Given the description of an element on the screen output the (x, y) to click on. 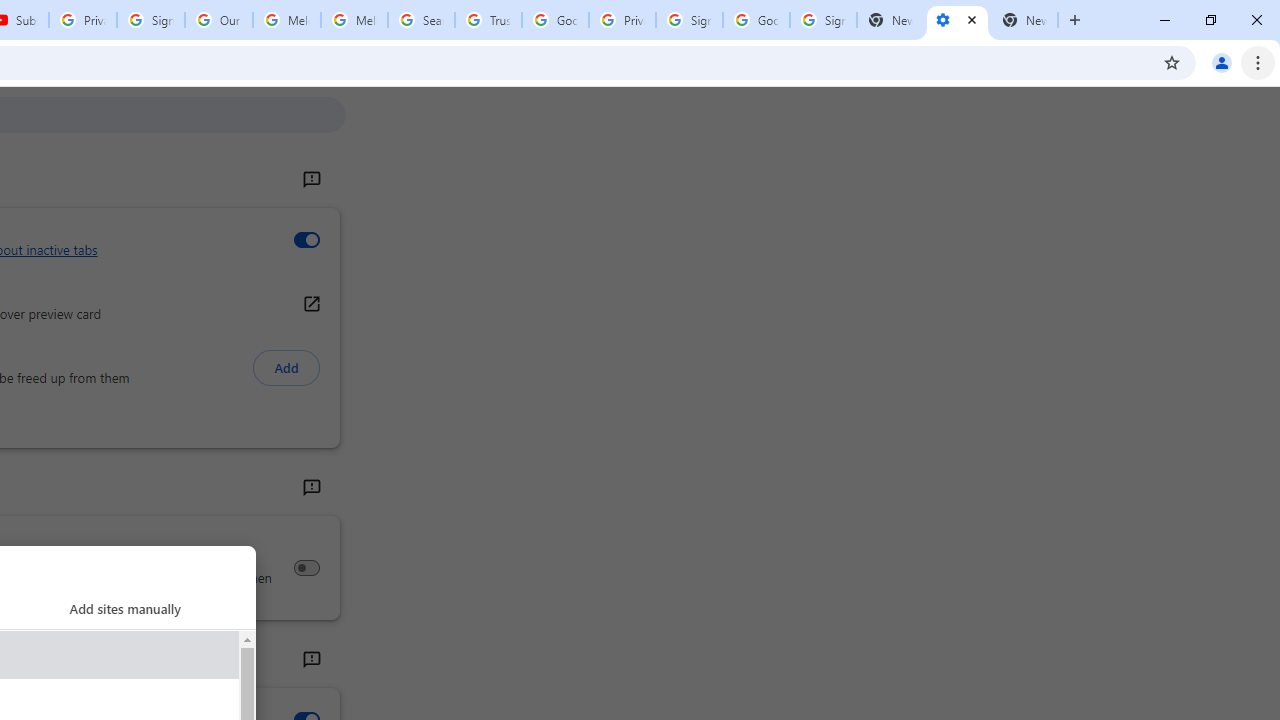
Google Ads - Sign in (555, 20)
Google Cybersecurity Innovations - Google Safety Center (756, 20)
Sign in - Google Accounts (689, 20)
Settings - Performance (957, 20)
